Given the description of an element on the screen output the (x, y) to click on. 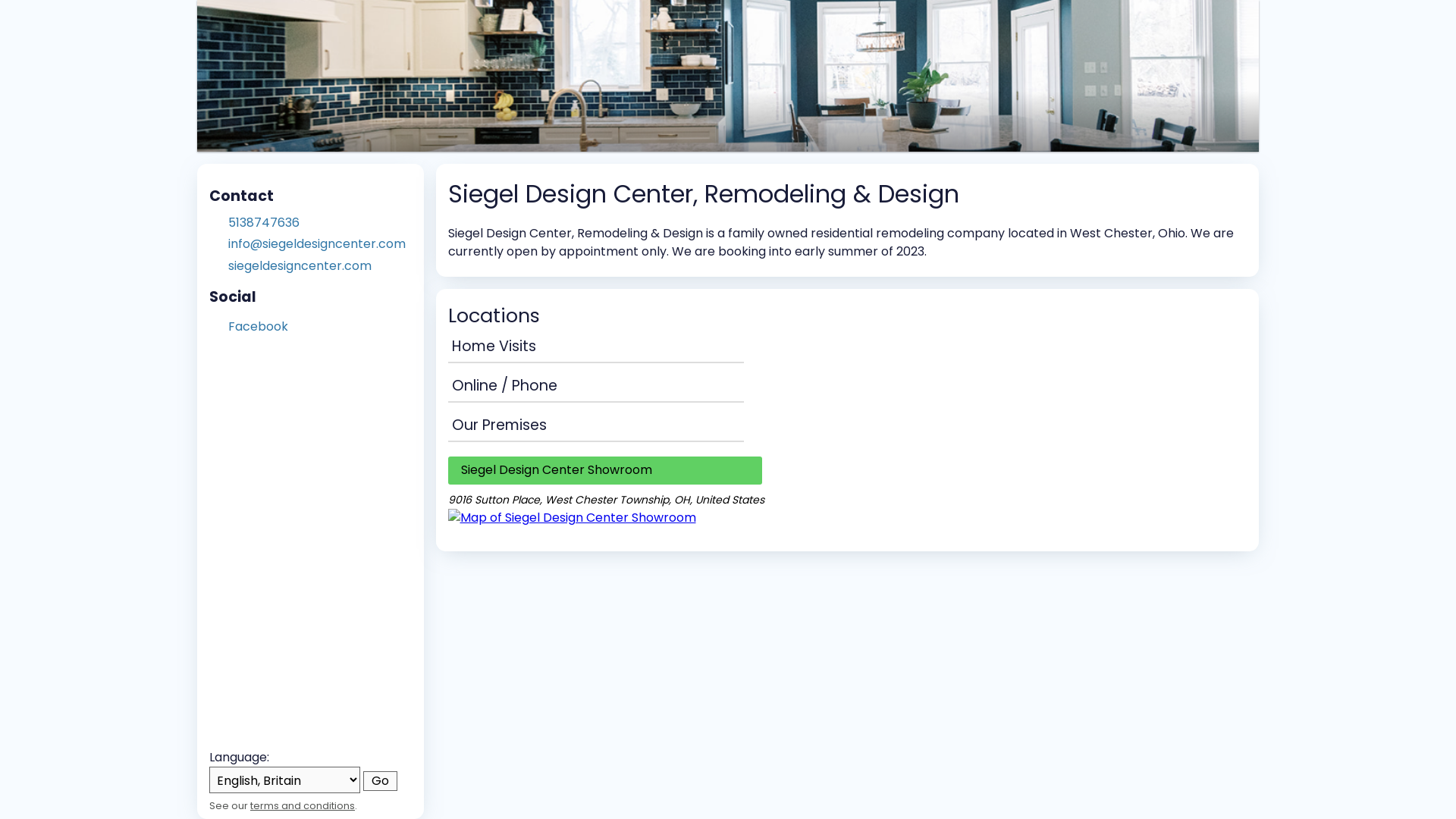
Skip to booking section Element type: text (292, 23)
terms and conditions Element type: text (302, 805)
5138747636 Element type: text (319, 222)
siegeldesigncenter.com Element type: text (319, 266)
Go Element type: text (380, 780)
Facebook Element type: text (258, 326)
Siegel Design Center Showroom Element type: text (604, 470)
info@siegeldesigncenter.com Element type: text (319, 244)
